Given the description of an element on the screen output the (x, y) to click on. 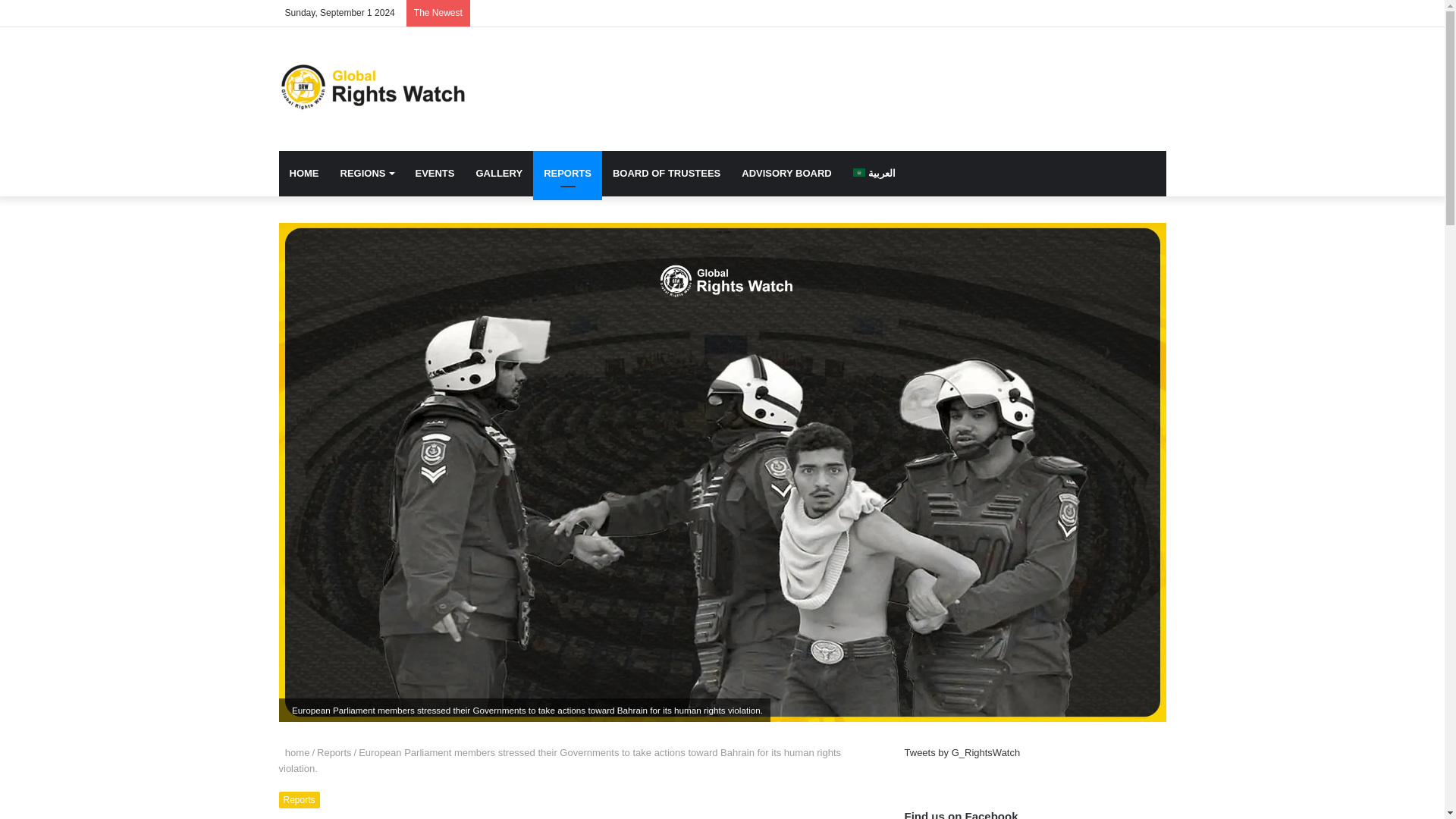
GRWATCH (372, 88)
Reports (334, 752)
GALLERY (498, 173)
ADVISORY BOARD (785, 173)
BOARD OF TRUSTEES (666, 173)
HOME (304, 173)
REGIONS (366, 173)
home (294, 752)
REPORTS (567, 173)
EVENTS (434, 173)
